Given the description of an element on the screen output the (x, y) to click on. 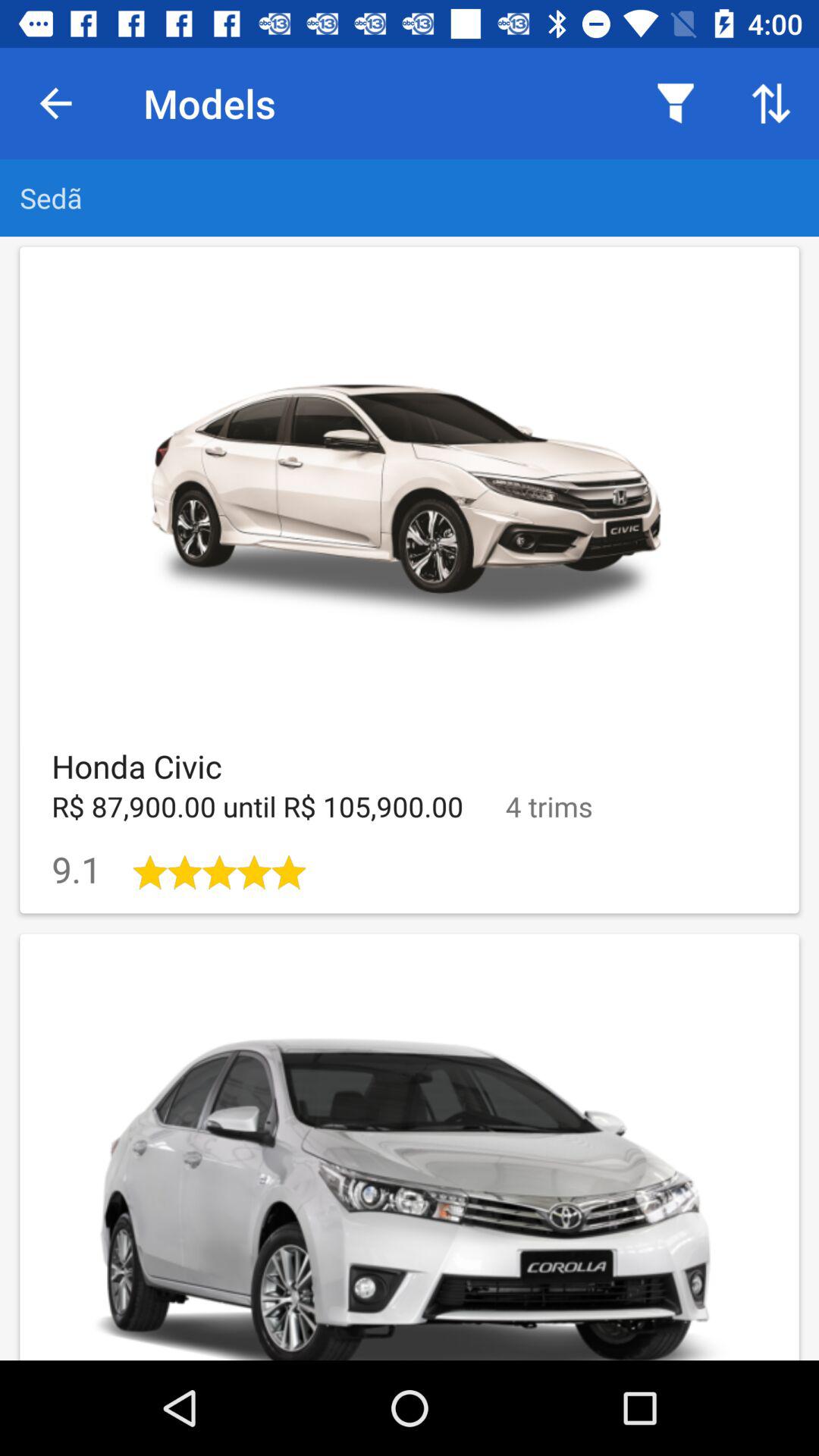
choose the item to the right of the models icon (675, 103)
